Given the description of an element on the screen output the (x, y) to click on. 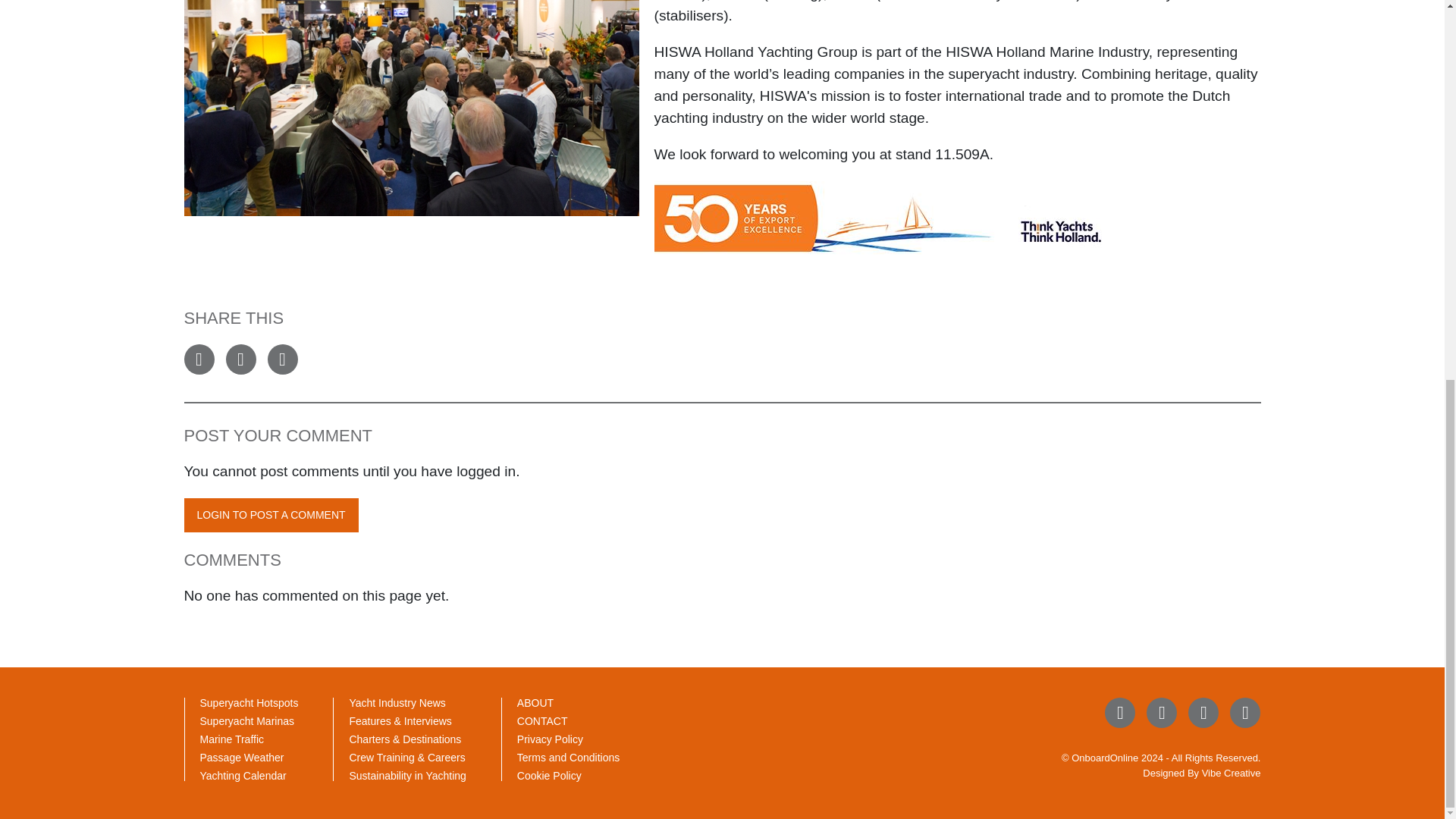
Login to post a comment (270, 514)
Yacht Industry News (397, 702)
Superyacht Marinas (247, 720)
Share on LinkedIn (281, 358)
Yachting Calendar (243, 775)
Superyacht Hotspots (249, 702)
LOGIN TO POST A COMMENT (270, 514)
Sustainability in Yachting (407, 775)
Superyacht Hotspots (249, 702)
Superyacht Marinas (247, 720)
Passage Weather (241, 757)
Marine Traffic (232, 739)
more info... (876, 217)
